Given the description of an element on the screen output the (x, y) to click on. 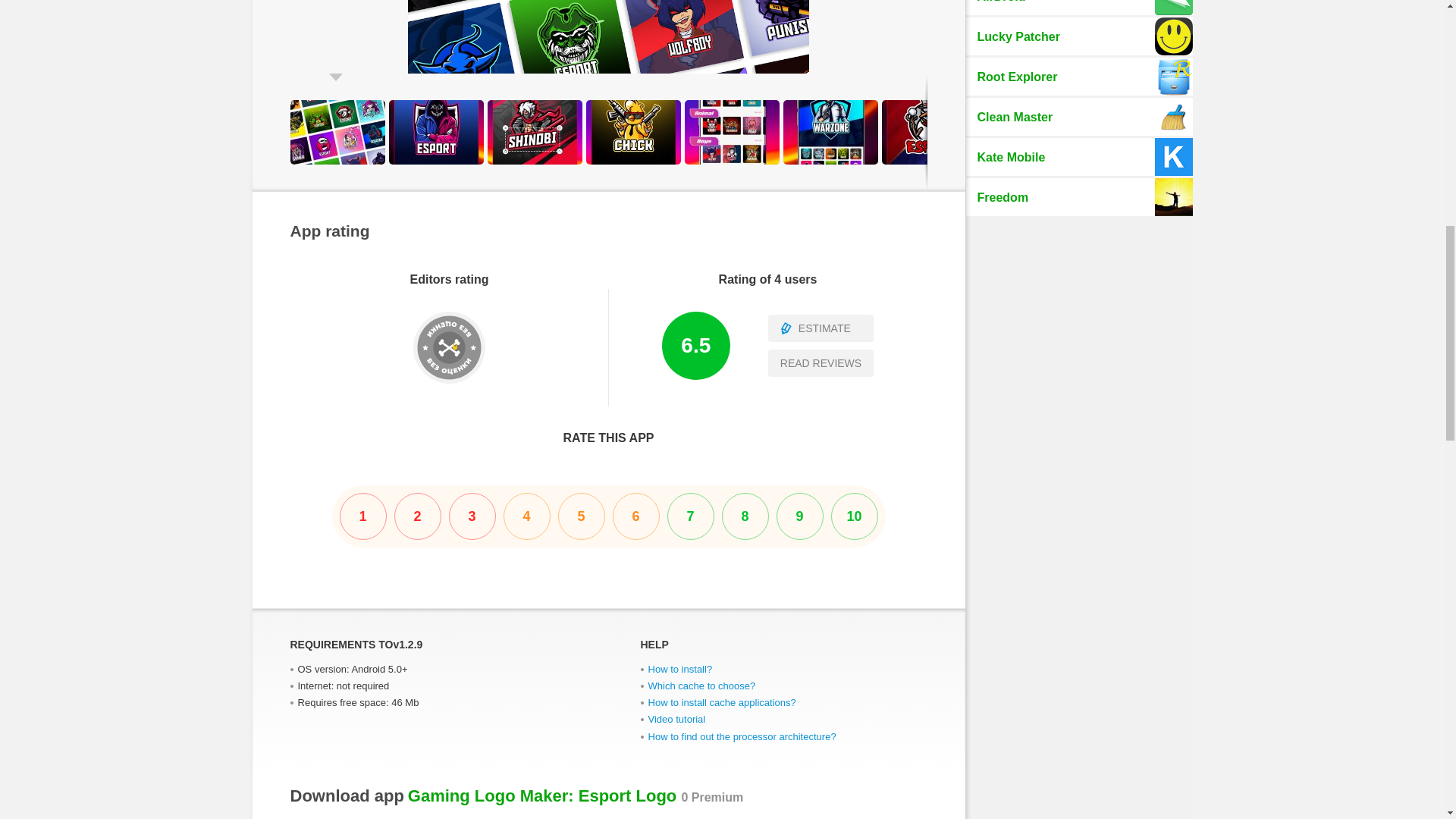
ESTIMATE (820, 328)
Root Explorer (1079, 76)
Freedom (1079, 197)
Clean Master (1079, 116)
AirDroid (1079, 7)
Lucky Patcher (1079, 36)
READ REVIEWS (820, 362)
Which cache to choose? (701, 685)
Video tutorial (675, 718)
How to install? (679, 668)
How to install cache applications? (720, 702)
How to find out the processor architecture? (741, 736)
Kate Mobile (1079, 157)
